Given the description of an element on the screen output the (x, y) to click on. 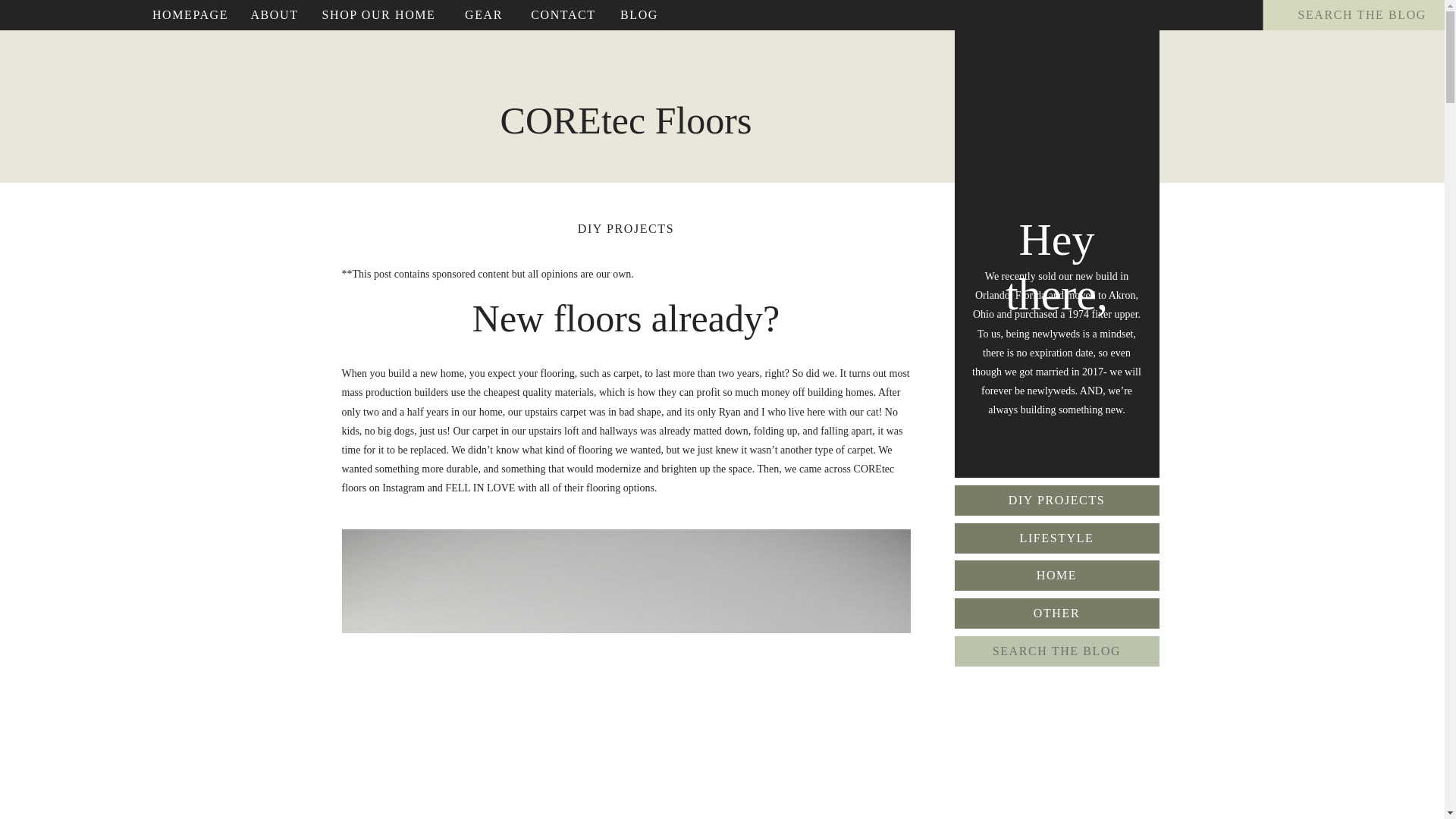
CONTACT (562, 14)
DIY PROJECTS (626, 228)
GEAR (483, 14)
ABOUT (274, 14)
OTHER (1055, 613)
HOMEPAGE (189, 14)
DIY PROJECTS (1055, 500)
LIFESTYLE (1055, 537)
HOME (1055, 575)
SHOP OUR HOME (379, 14)
BLOG (638, 14)
